Given the description of an element on the screen output the (x, y) to click on. 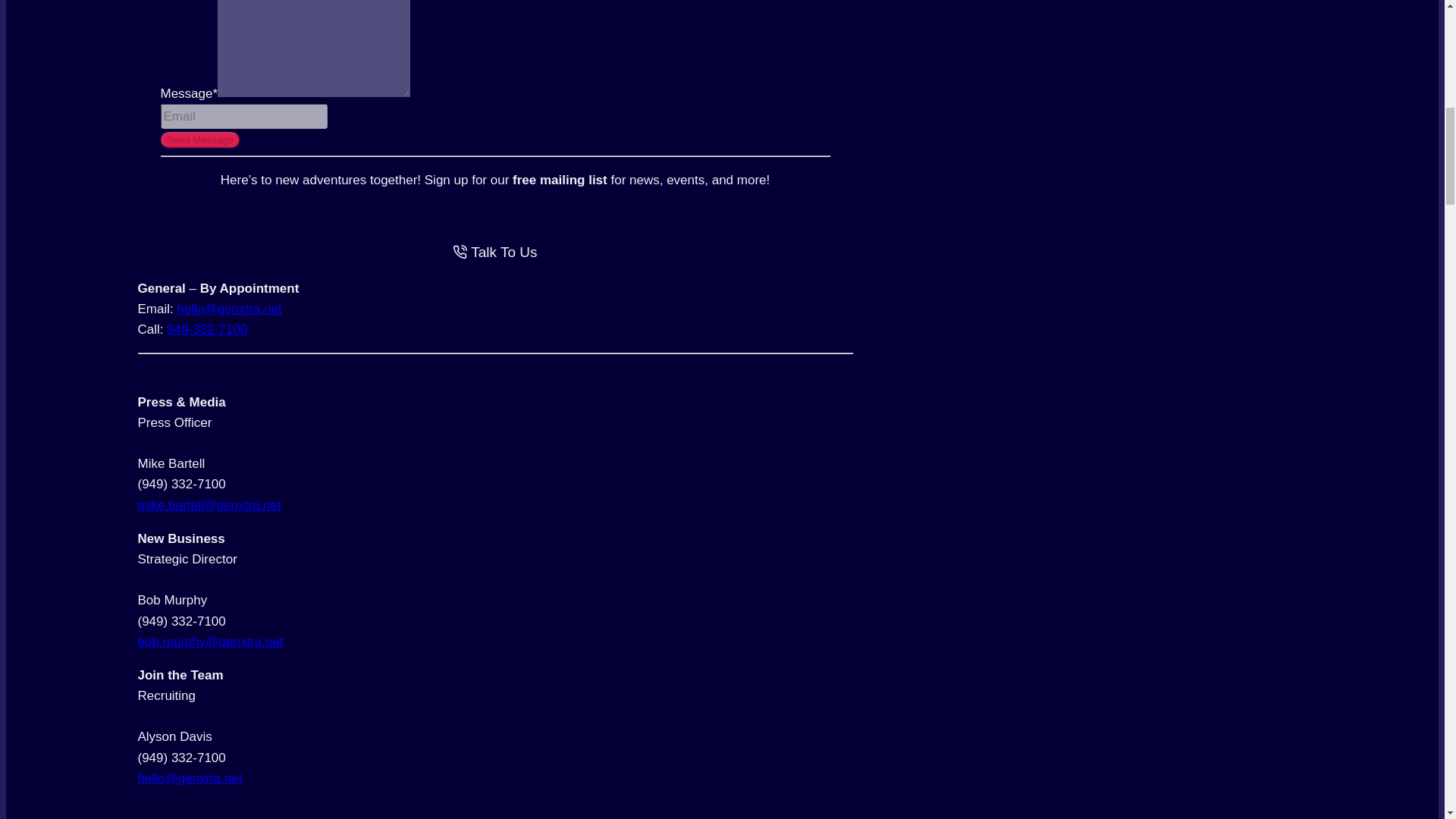
Send Message (200, 139)
949-332-7100 (207, 329)
